Given the description of an element on the screen output the (x, y) to click on. 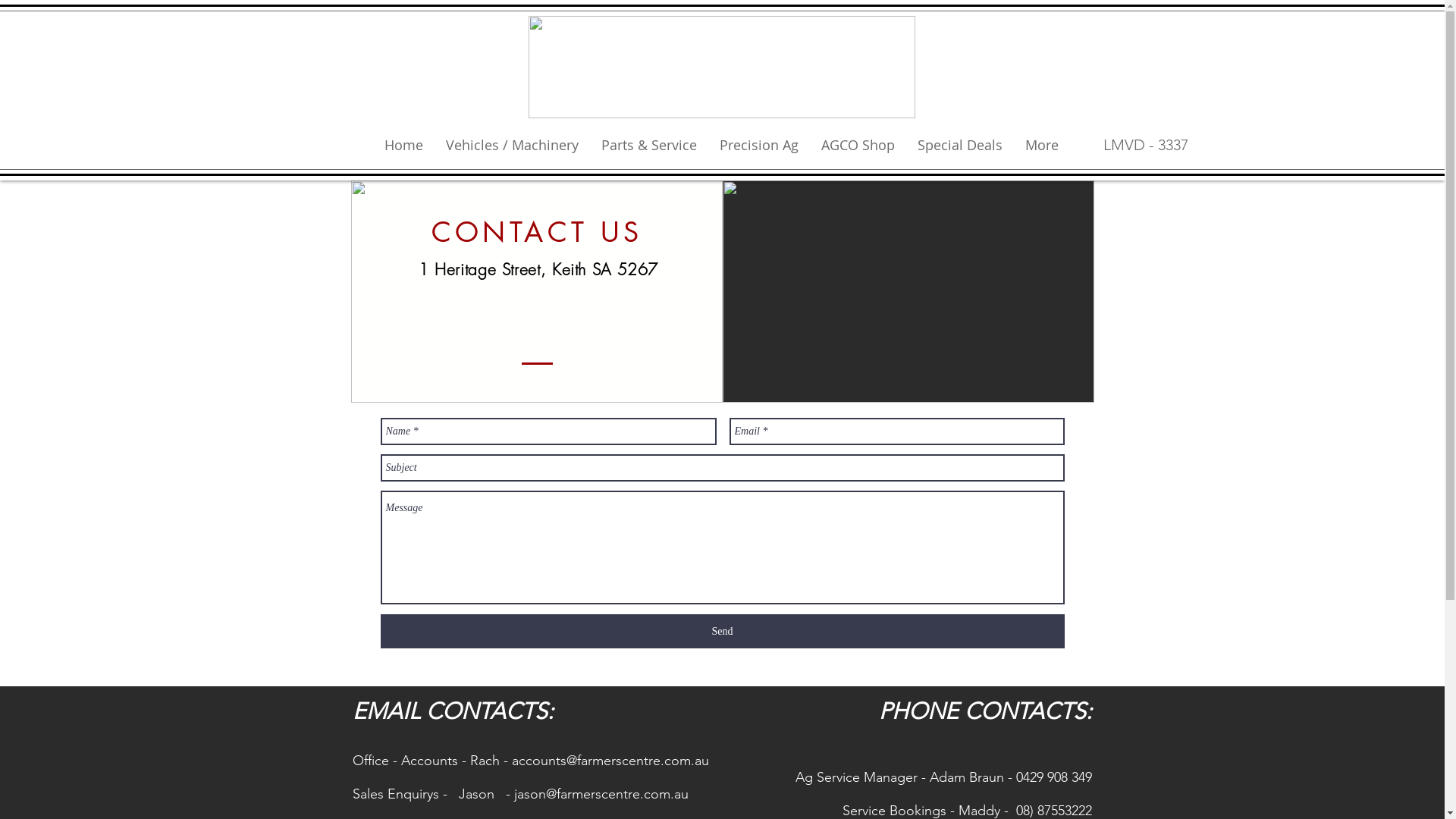
Precision Ag Element type: text (758, 144)
Special Deals Element type: text (959, 144)
Parts & Service Element type: text (648, 144)
AGCO Shop Element type: text (857, 144)
jason@farmerscentre.com.au Element type: text (601, 793)
accounts@farmerscentre.com.au Element type: text (609, 760)
Send Element type: text (722, 631)
Home Element type: text (403, 144)
